Given the description of an element on the screen output the (x, y) to click on. 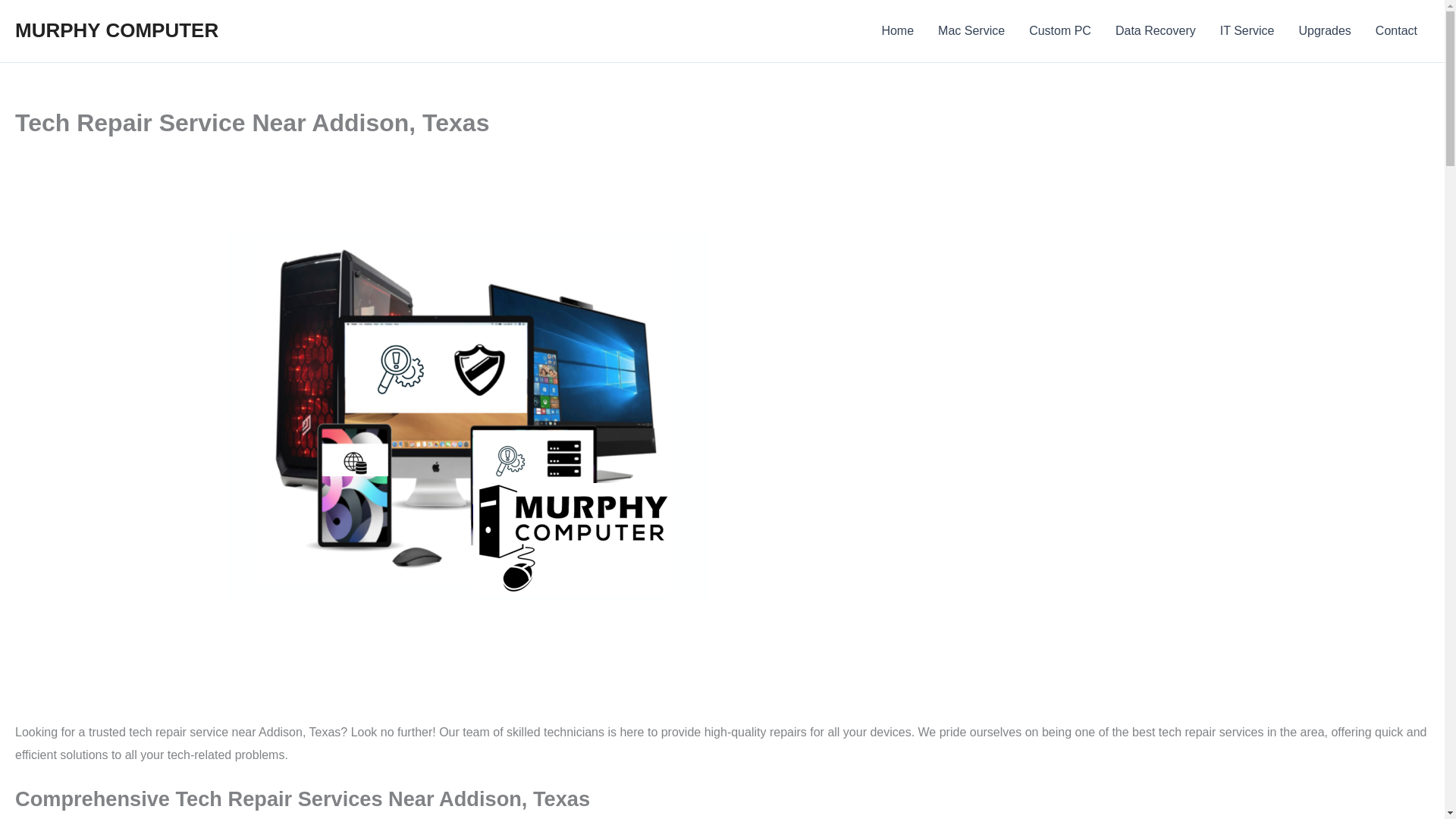
Upgrades (1323, 31)
Data Recovery (1155, 31)
Contact (1395, 31)
Custom PC (1059, 31)
IT Service (1247, 31)
Mac Service (971, 31)
MURPHY COMPUTER (116, 29)
Home (897, 31)
